Given the description of an element on the screen output the (x, y) to click on. 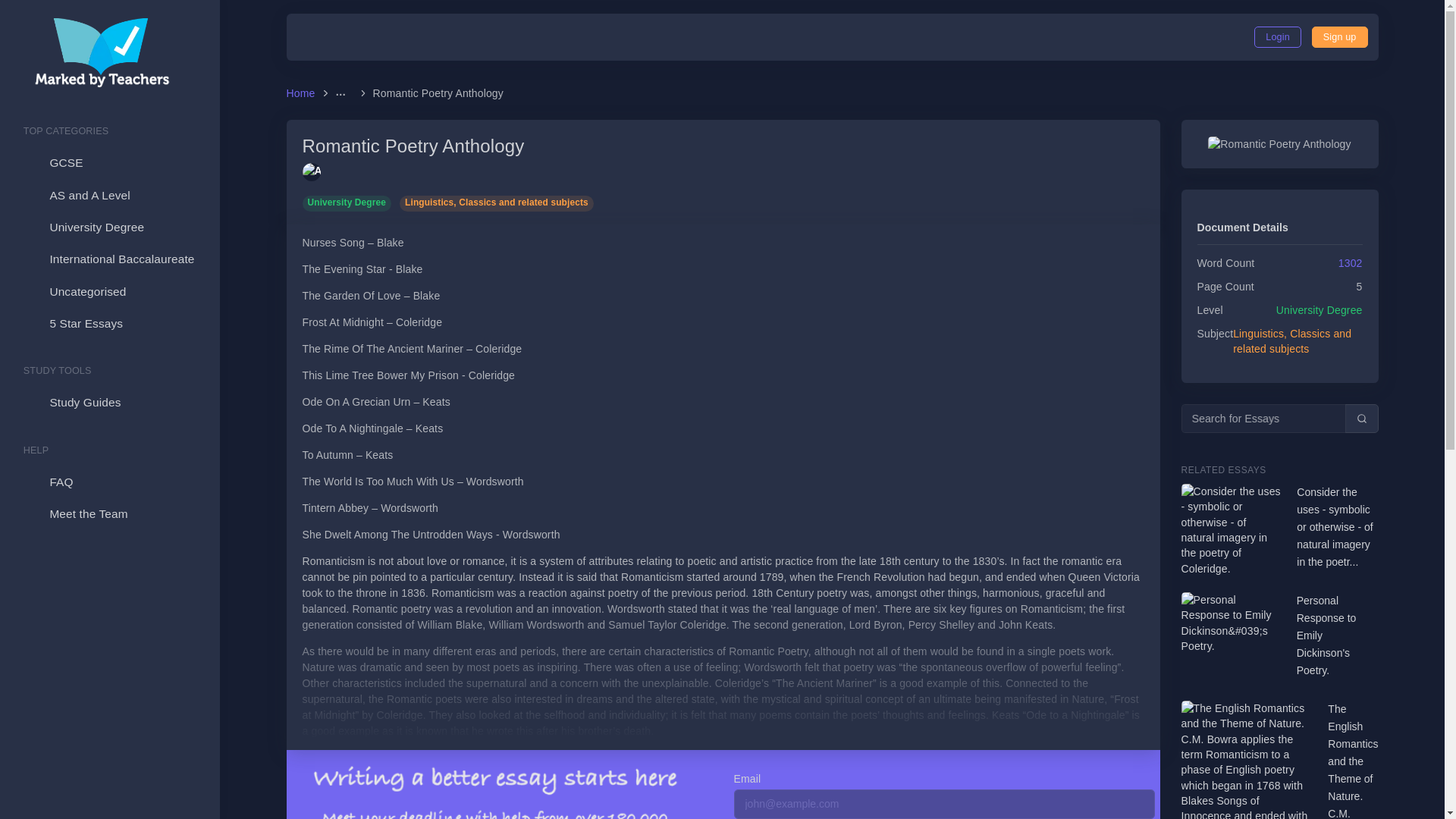
Study Guides (109, 402)
GCSE (109, 163)
AS and A Level (109, 195)
Sign Up (1339, 36)
University Degree (109, 227)
5 Star Essays (109, 323)
International Baccalaureate (109, 259)
5 Star Essays (109, 323)
Home (302, 92)
University Degree (109, 227)
